Given the description of an element on the screen output the (x, y) to click on. 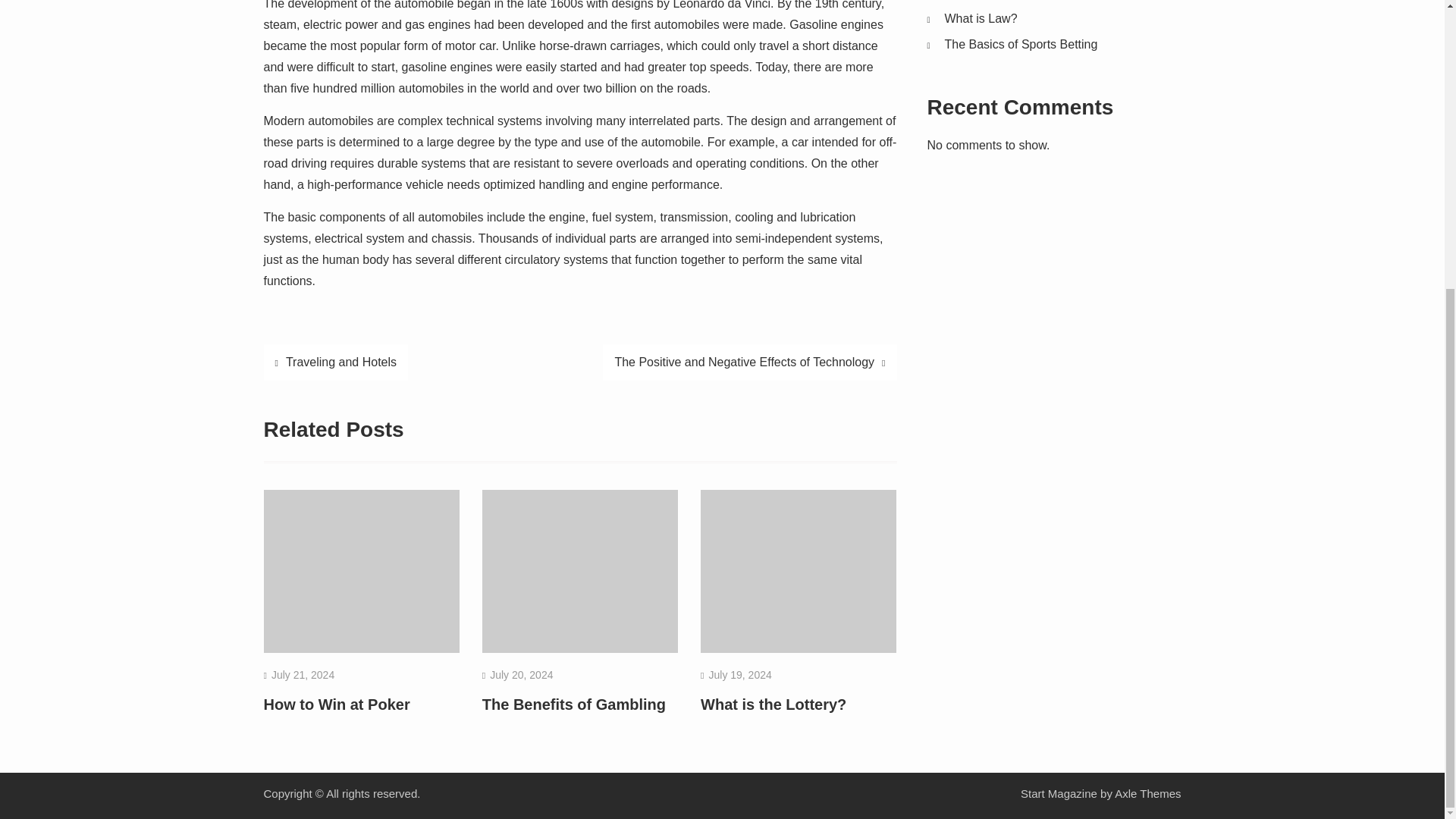
What is the Lottery? (772, 704)
The Basics of Sports Betting (1020, 43)
The Benefits of Gambling (573, 704)
Axle Themes (1147, 793)
Traveling and Hotels (336, 361)
How to Win at Poker (336, 704)
What is Law? (980, 18)
The Positive and Negative Effects of Technology (749, 361)
